Given the description of an element on the screen output the (x, y) to click on. 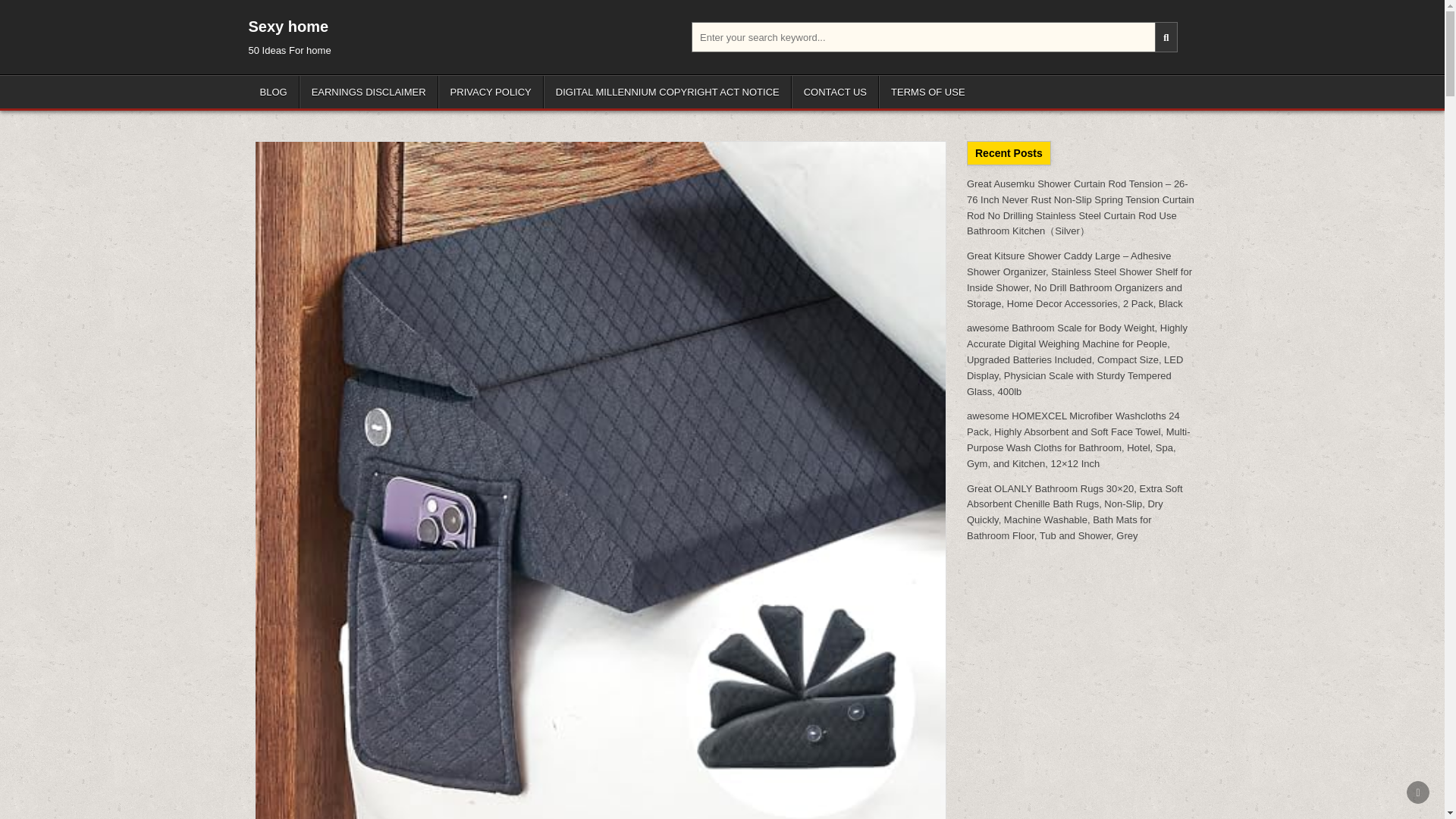
Scroll to Top (1417, 792)
BLOG (273, 92)
Sexy home (288, 26)
PRIVACY POLICY (490, 92)
CONTACT US (835, 92)
TERMS OF USE (927, 92)
DIGITAL MILLENNIUM COPYRIGHT ACT NOTICE (667, 92)
SCROLL TO TOP (1417, 792)
EARNINGS DISCLAIMER (368, 92)
